Given the description of an element on the screen output the (x, y) to click on. 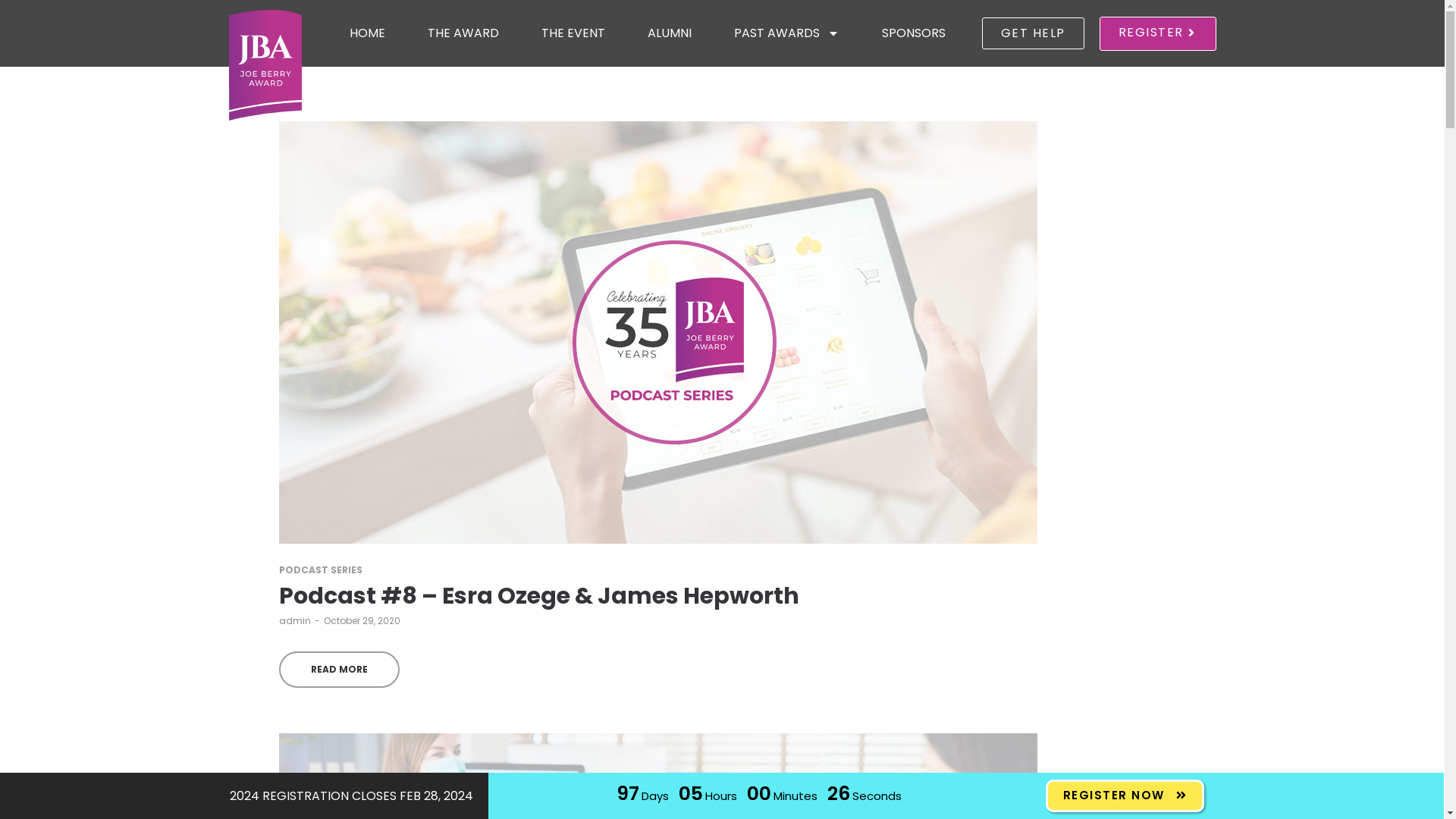
ALUMNI Element type: text (669, 32)
GET HELP Element type: text (1033, 33)
PAST AWARDS Element type: text (786, 32)
admin Element type: text (294, 620)
THE AWARD Element type: text (463, 32)
October 29, 2020 Element type: text (361, 620)
SPONSORS Element type: text (913, 32)
THE EVENT Element type: text (573, 32)
HOME Element type: text (367, 32)
READ MORE Element type: text (339, 669)
REGISTER NOW Element type: text (1123, 795)
REGISTER Element type: text (1157, 33)
PODCAST SERIES Element type: text (320, 569)
